Given the description of an element on the screen output the (x, y) to click on. 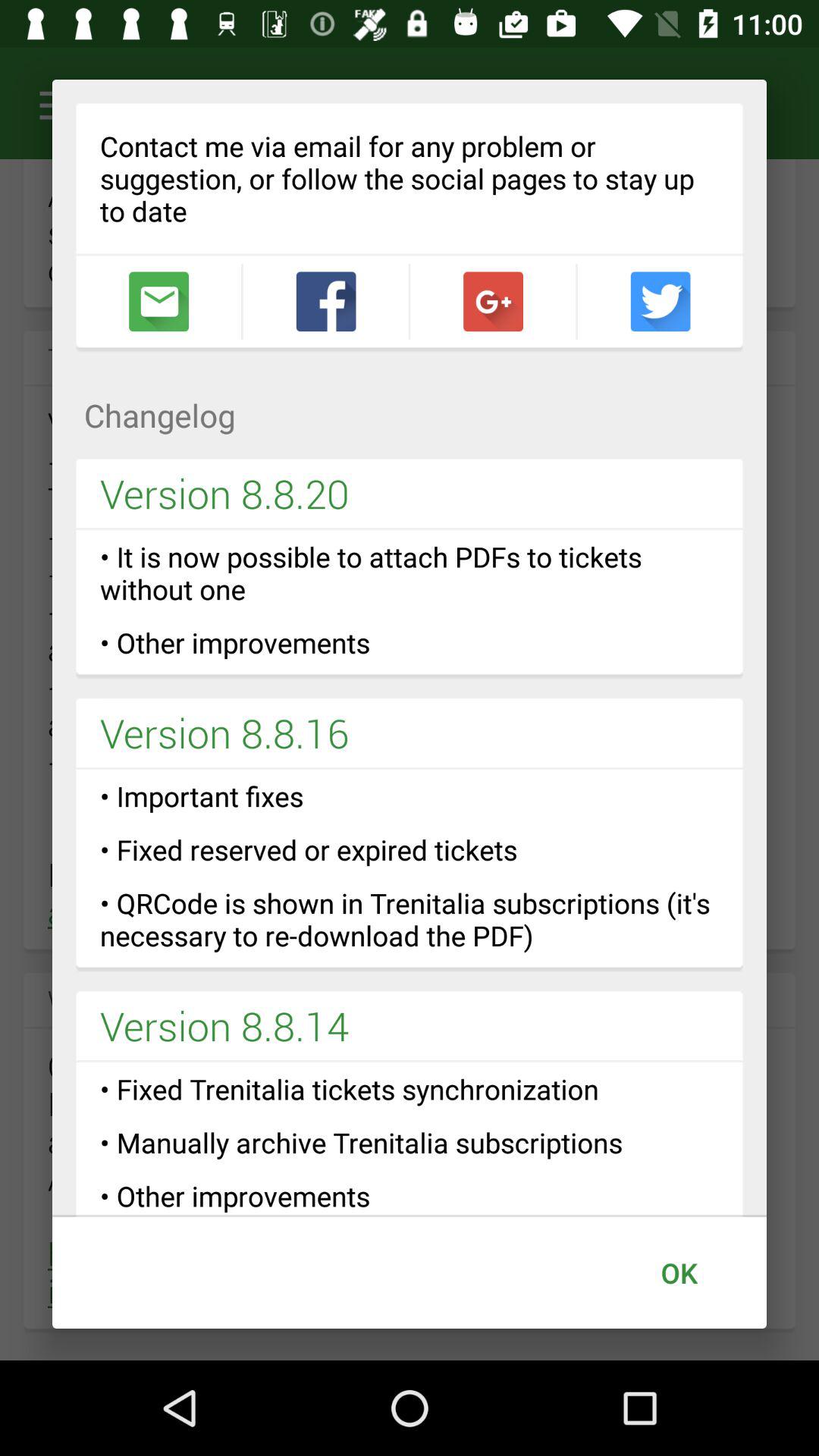
open the item above the changelog (325, 301)
